Given the description of an element on the screen output the (x, y) to click on. 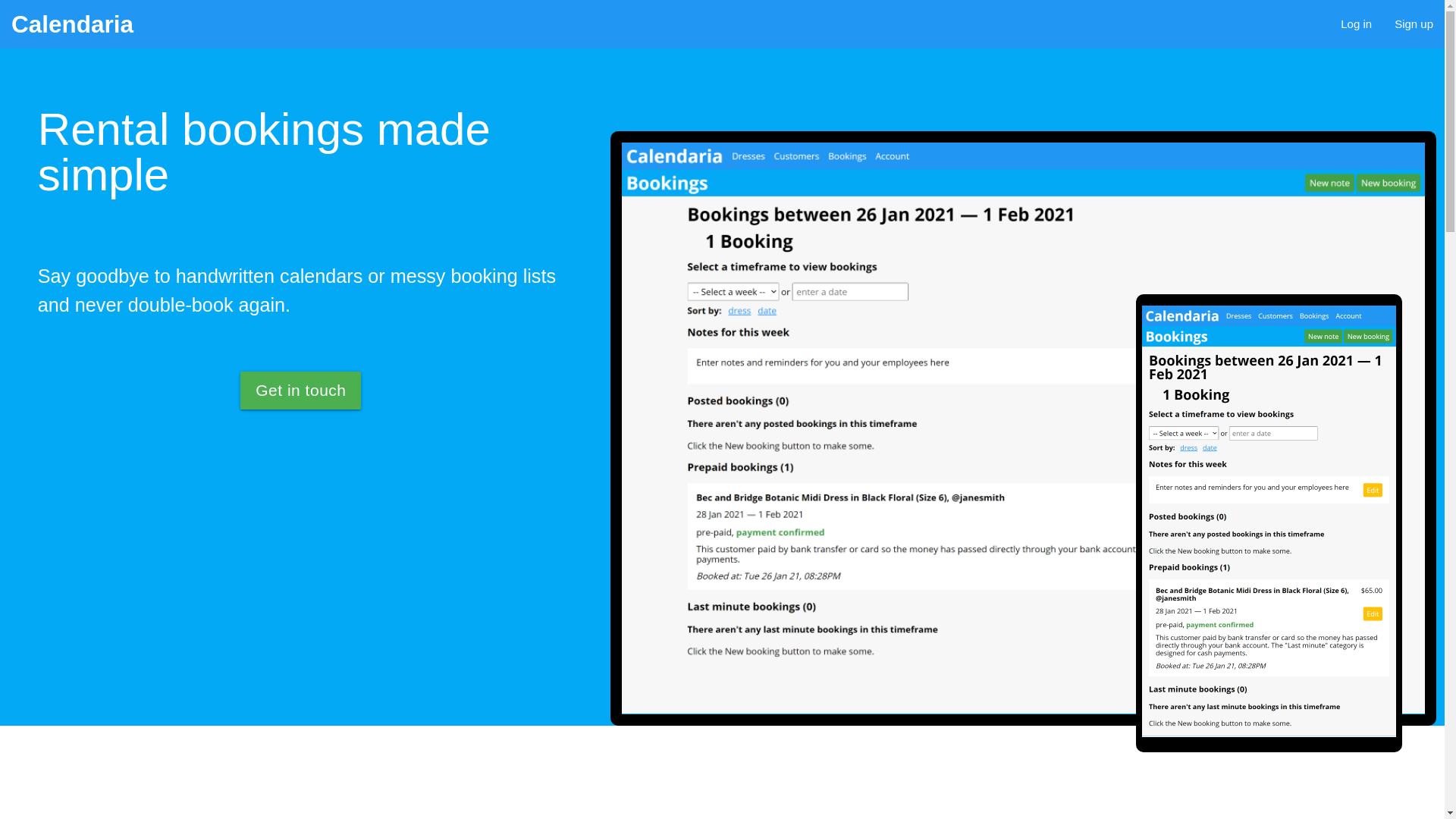
Sign up Element type: text (1413, 24)
Log in Element type: text (1356, 24)
Calendaria Element type: text (72, 24)
Get in touch Element type: text (300, 390)
